Given the description of an element on the screen output the (x, y) to click on. 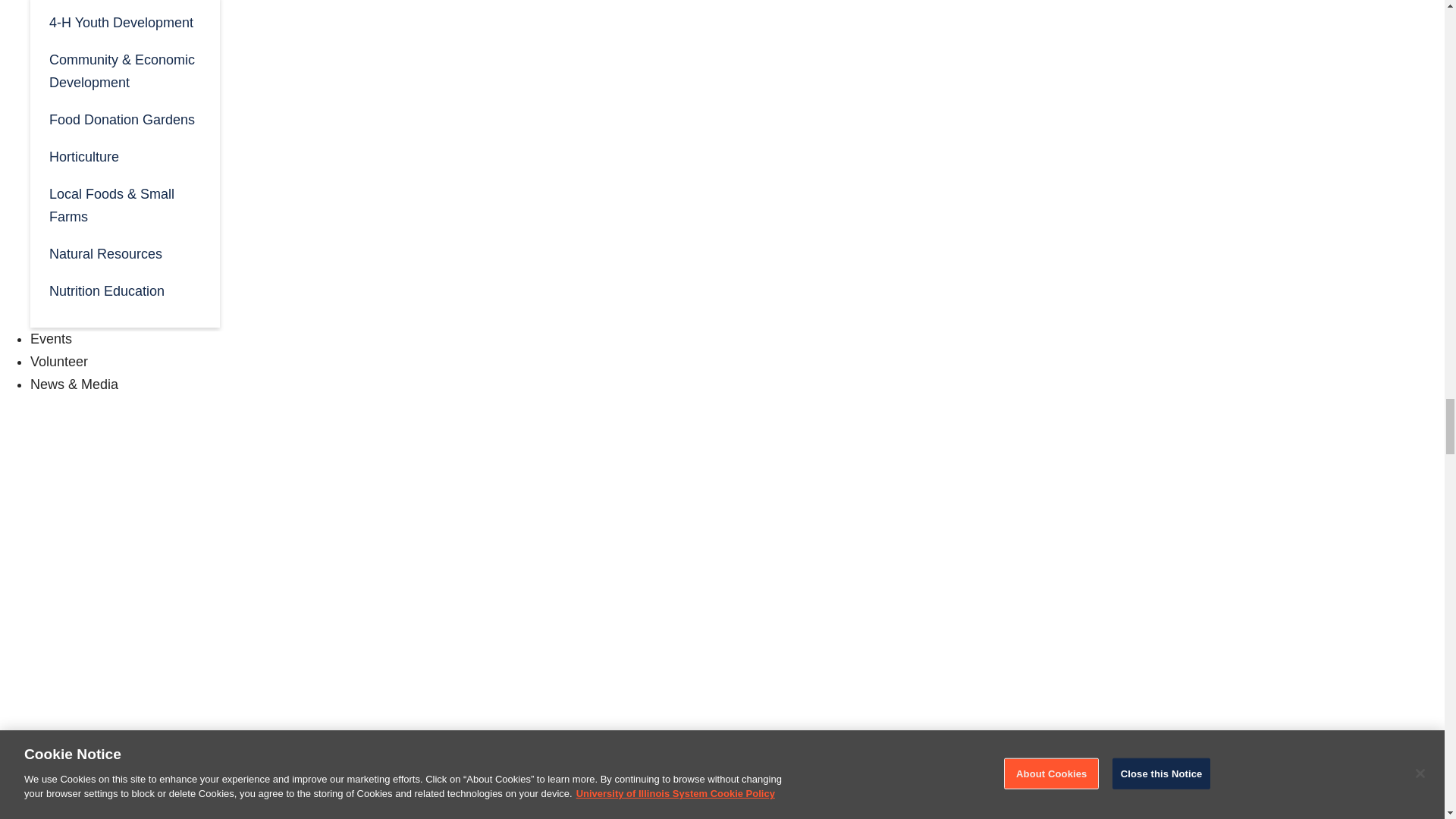
Nutrition Education (125, 289)
Natural Resources (125, 252)
Horticulture (125, 155)
Events (50, 338)
4-H Youth Development (125, 21)
Food Donation Gardens (125, 118)
Volunteer (58, 361)
